Given the description of an element on the screen output the (x, y) to click on. 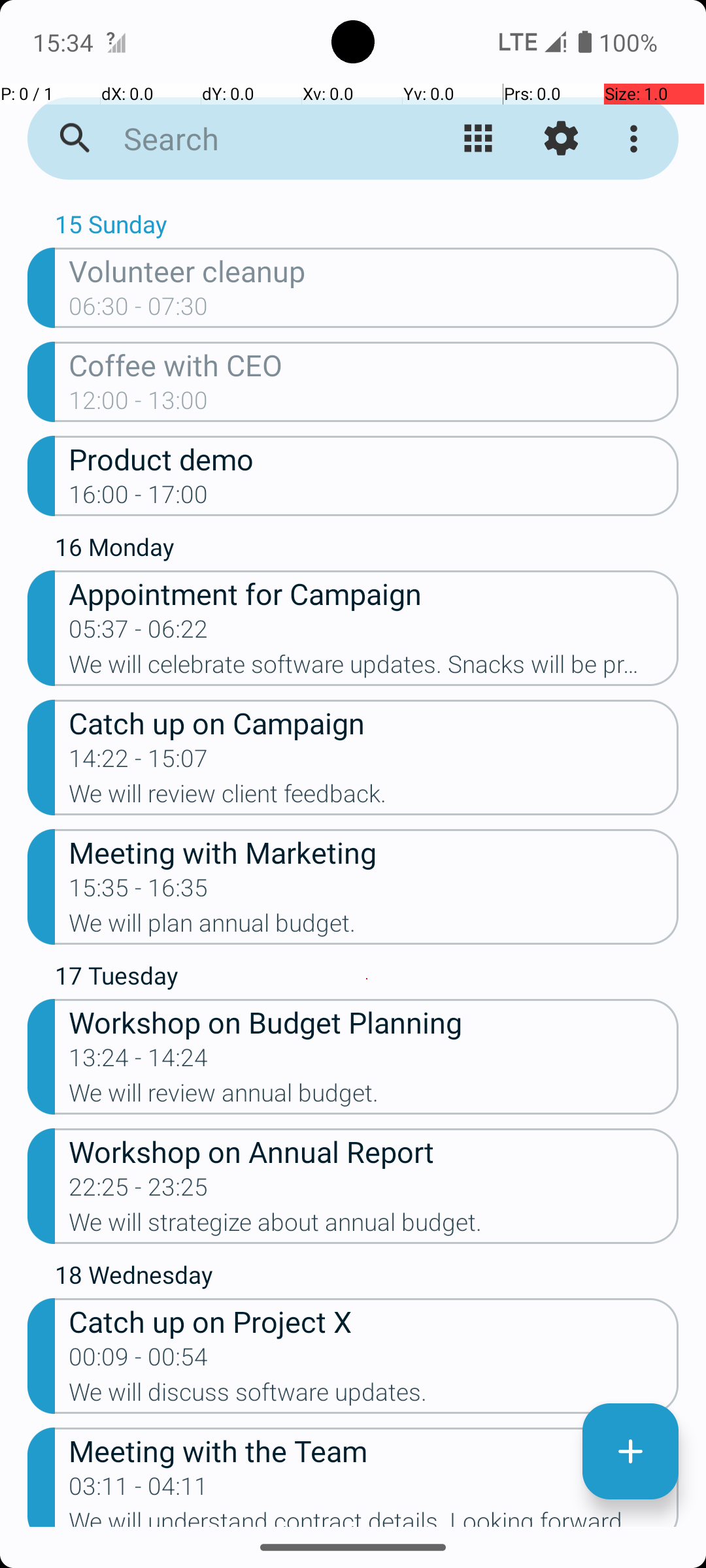
17 Tuesday Element type: android.widget.TextView (366, 978)
18 Wednesday Element type: android.widget.TextView (366, 1277)
Volunteer cleanup Element type: android.widget.TextView (373, 269)
06:30 - 07:30 Element type: android.widget.TextView (137, 309)
Coffee with CEO Element type: android.widget.TextView (373, 363)
12:00 - 13:00 Element type: android.widget.TextView (137, 404)
Product demo Element type: android.widget.TextView (373, 457)
16:00 - 17:00 Element type: android.widget.TextView (137, 498)
05:37 - 06:22 Element type: android.widget.TextView (137, 632)
We will celebrate software updates. Snacks will be provided. Element type: android.widget.TextView (373, 668)
Catch up on Campaign Element type: android.widget.TextView (373, 721)
14:22 - 15:07 Element type: android.widget.TextView (137, 762)
We will review client feedback. Element type: android.widget.TextView (373, 797)
15:35 - 16:35 Element type: android.widget.TextView (137, 891)
We will plan annual budget. Element type: android.widget.TextView (373, 926)
Workshop on Budget Planning Element type: android.widget.TextView (373, 1021)
13:24 - 14:24 Element type: android.widget.TextView (137, 1061)
We will review annual budget. Element type: android.widget.TextView (373, 1096)
22:25 - 23:25 Element type: android.widget.TextView (137, 1190)
We will strategize about annual budget. Element type: android.widget.TextView (373, 1225)
00:09 - 00:54 Element type: android.widget.TextView (137, 1360)
We will discuss software updates. Element type: android.widget.TextView (373, 1395)
03:11 - 04:11 Element type: android.widget.TextView (137, 1489)
We will understand contract details. Looking forward to productive discussions. Element type: android.widget.TextView (373, 1516)
